Given the description of an element on the screen output the (x, y) to click on. 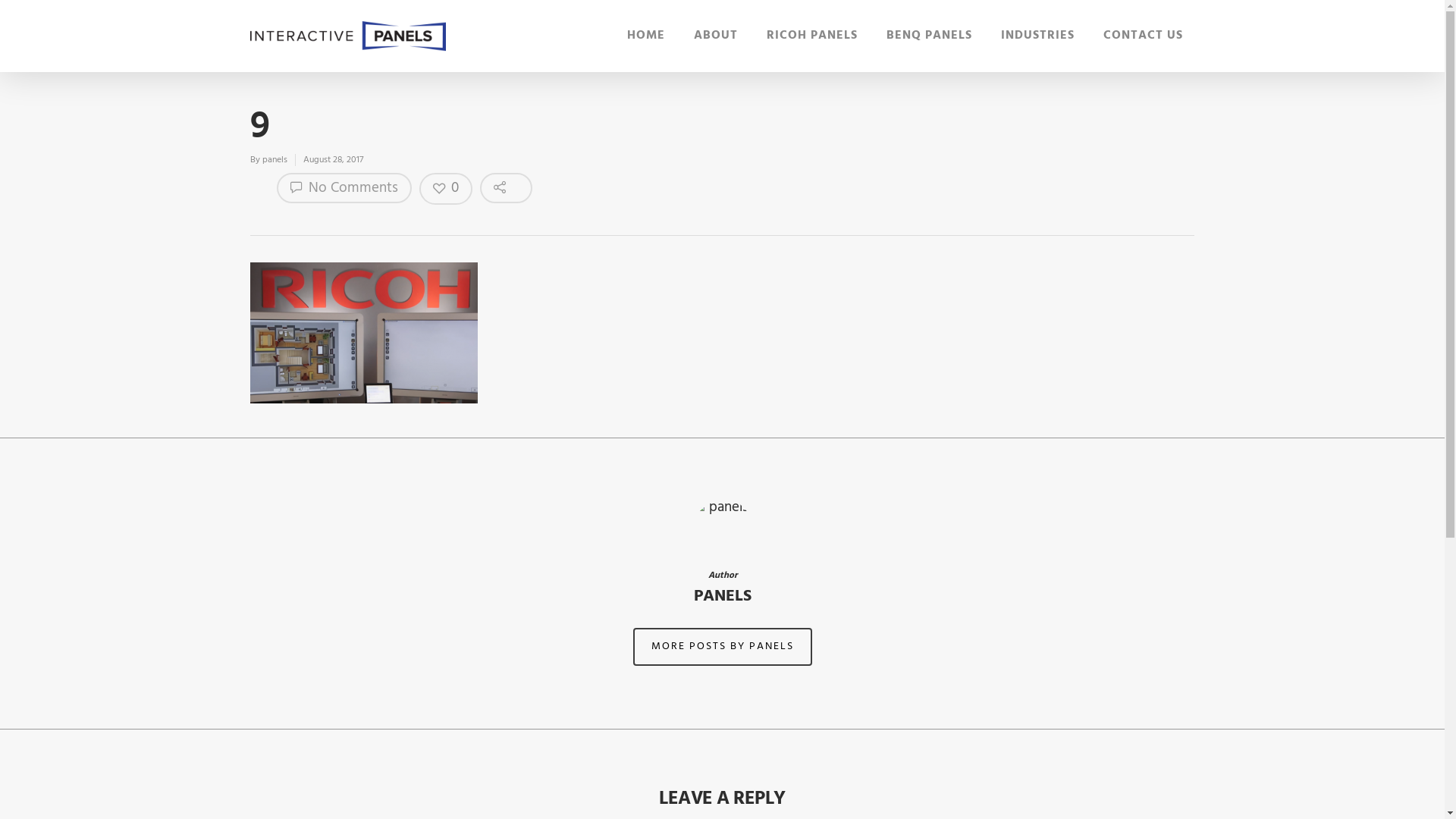
ABOUT Element type: text (715, 39)
panels Element type: text (274, 159)
CONTACT US Element type: text (1143, 39)
BENQ PANELS Element type: text (929, 39)
0 Element type: text (445, 188)
HOME Element type: text (646, 39)
No Comments Element type: text (343, 187)
MORE POSTS BY PANELS Element type: text (721, 646)
INDUSTRIES Element type: text (1037, 39)
RICOH PANELS Element type: text (811, 39)
